Given the description of an element on the screen output the (x, y) to click on. 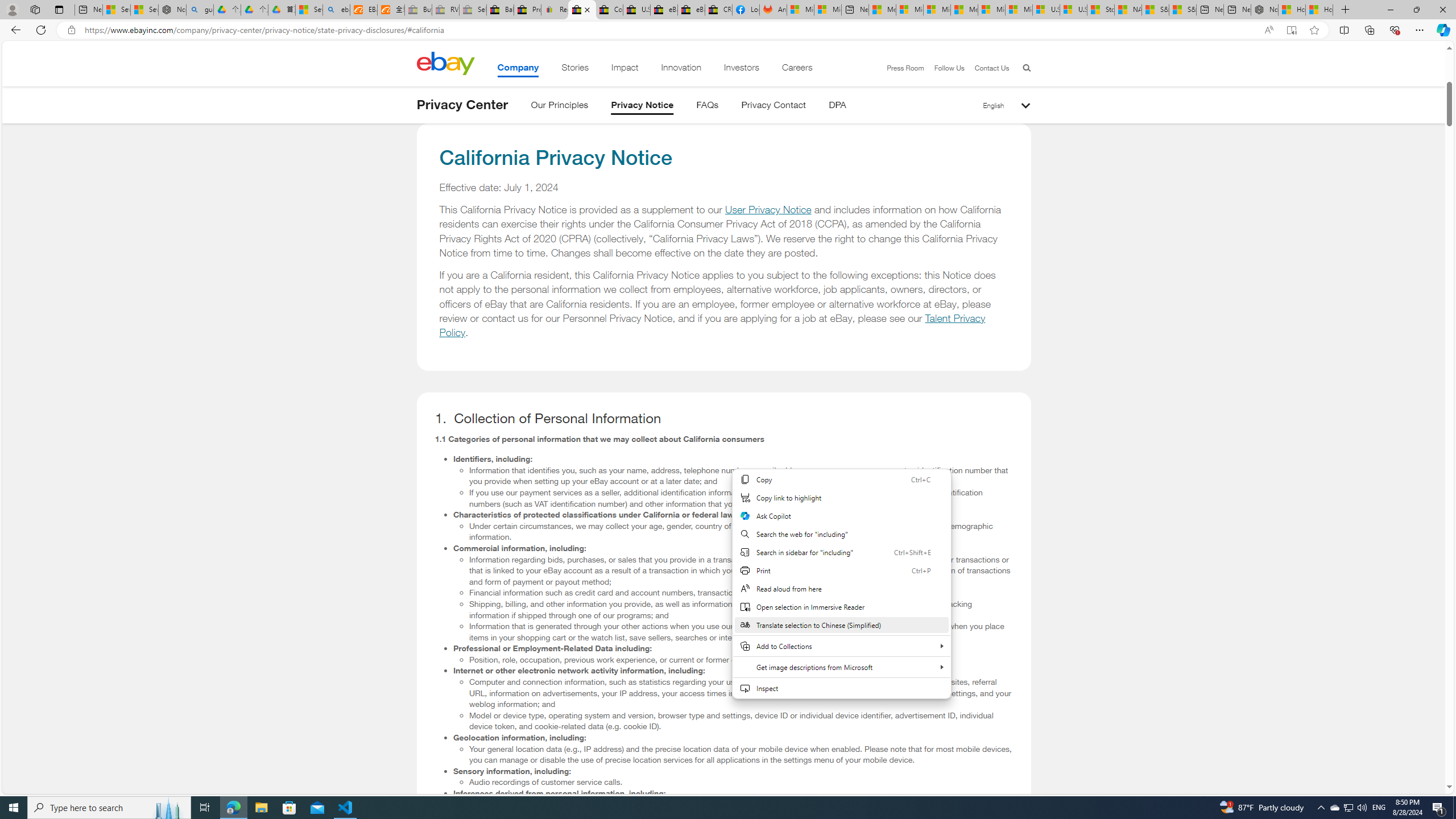
Search the web for "including" (841, 533)
Enter Immersive Reader (F9) (1291, 29)
eBay Inc. Reports Third Quarter 2023 Results (691, 9)
